Given the description of an element on the screen output the (x, y) to click on. 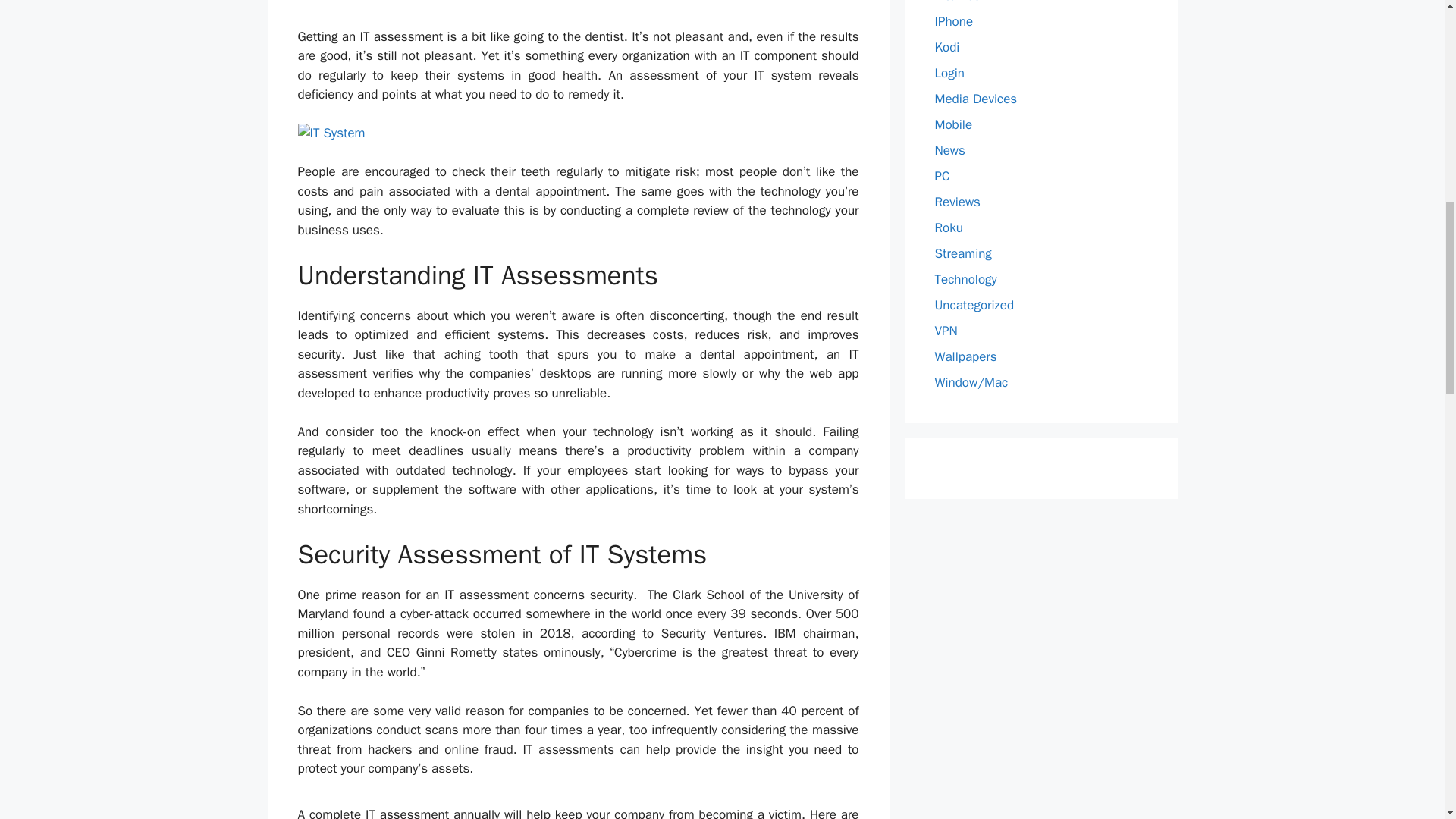
Advertisement (578, 9)
